Given the description of an element on the screen output the (x, y) to click on. 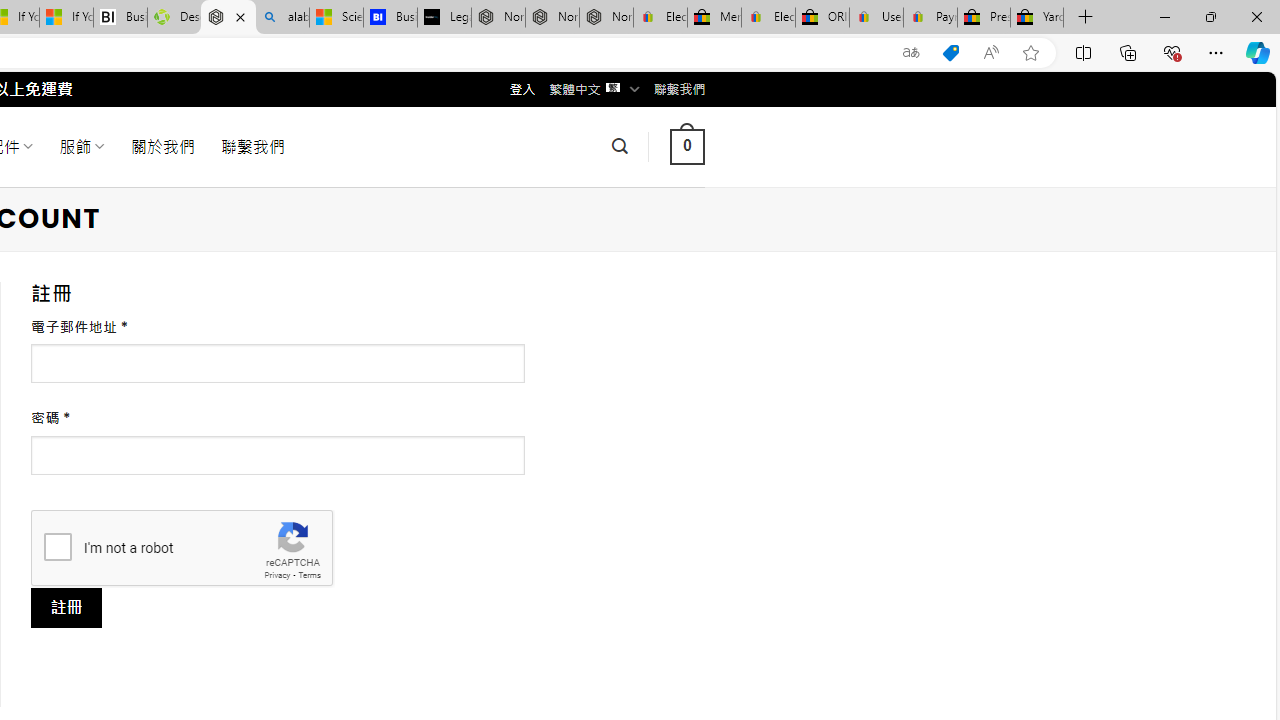
Show translate options (910, 53)
